Given the description of an element on the screen output the (x, y) to click on. 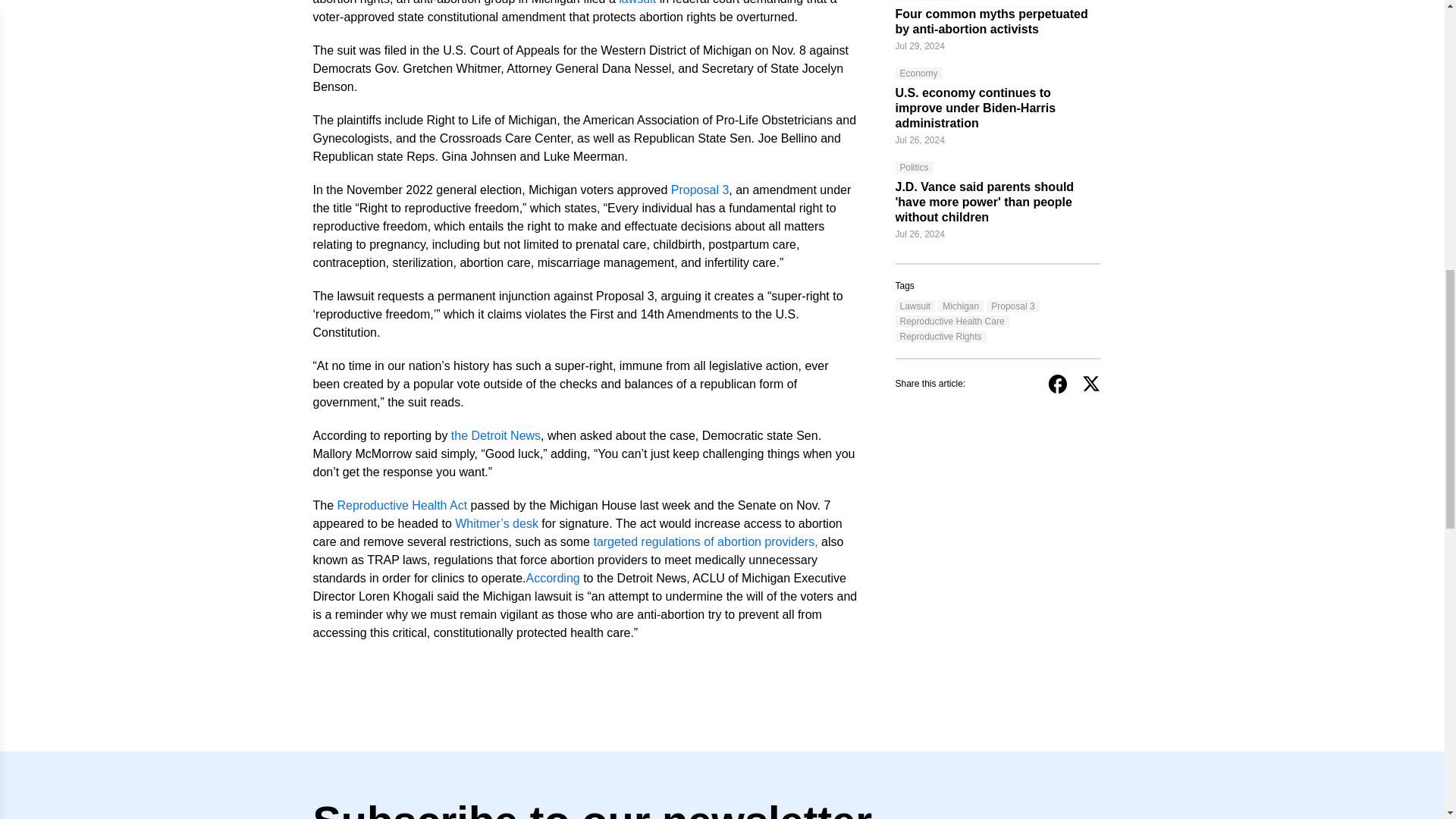
Reproductive Health Act (402, 505)
lawsuit (637, 2)
the Detroit News (495, 436)
targeted regulations of abortion providers, (704, 541)
Proposal 3 (700, 190)
According (552, 578)
